Given the description of an element on the screen output the (x, y) to click on. 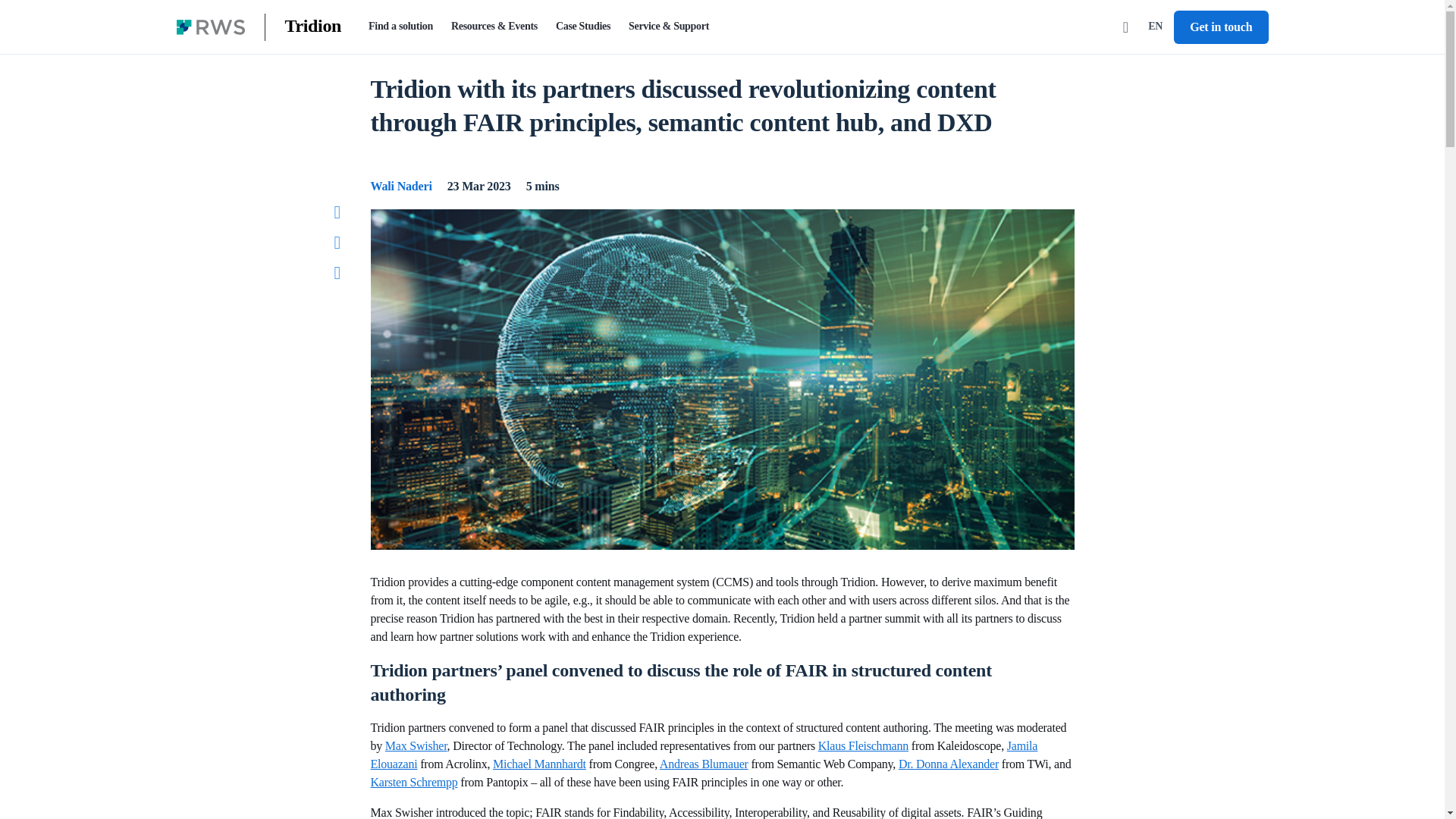
Tridion (313, 26)
Find a solution (400, 27)
